Given the description of an element on the screen output the (x, y) to click on. 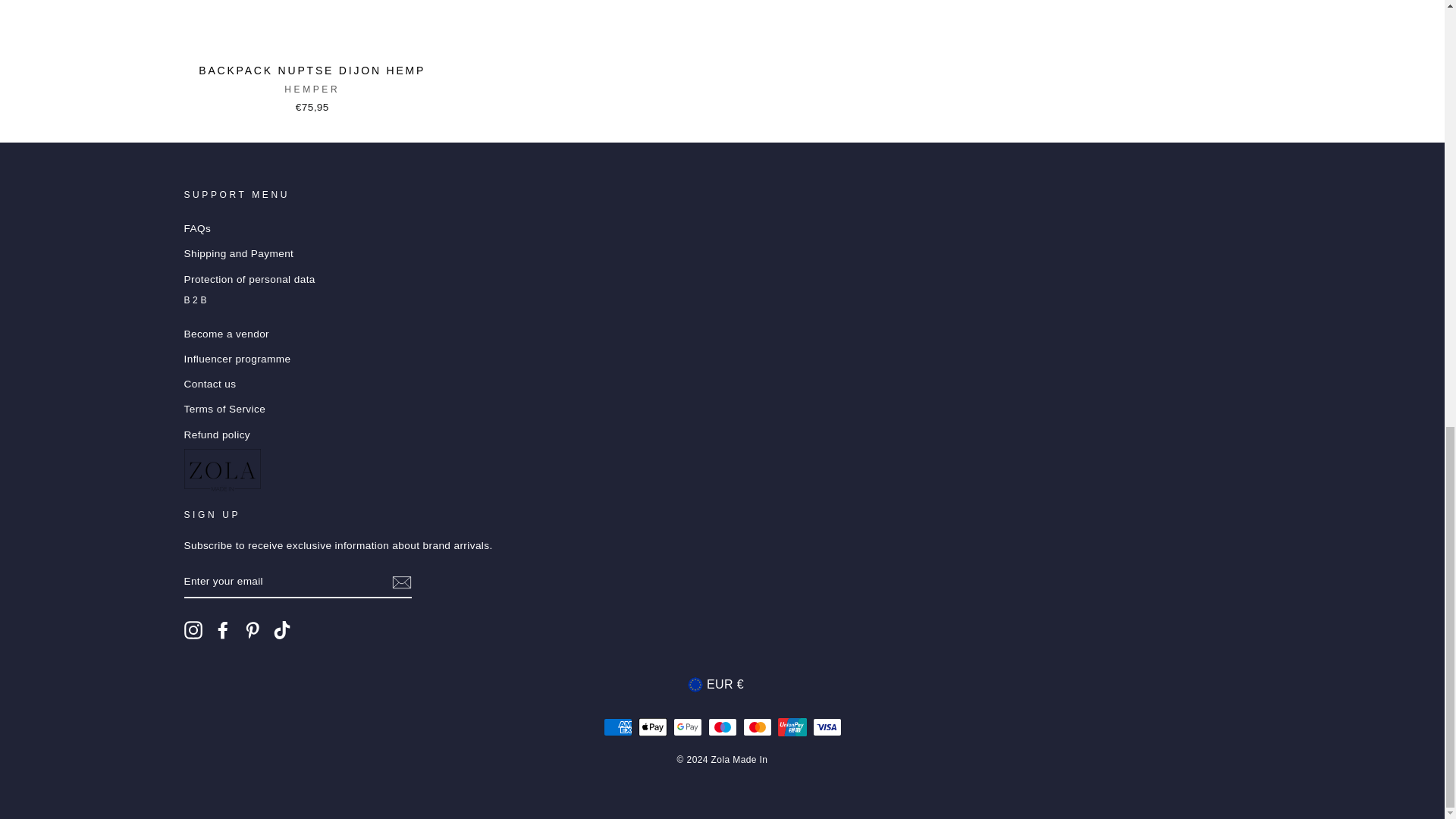
Mastercard (756, 727)
Visa (826, 727)
Zola Made In on Instagram (192, 629)
Maestro (721, 727)
Apple Pay (652, 727)
Google Pay (686, 727)
Union Pay (791, 727)
Zola Made In on Pinterest (251, 629)
Zola Made In on TikTok (282, 629)
American Express (617, 727)
